Given the description of an element on the screen output the (x, y) to click on. 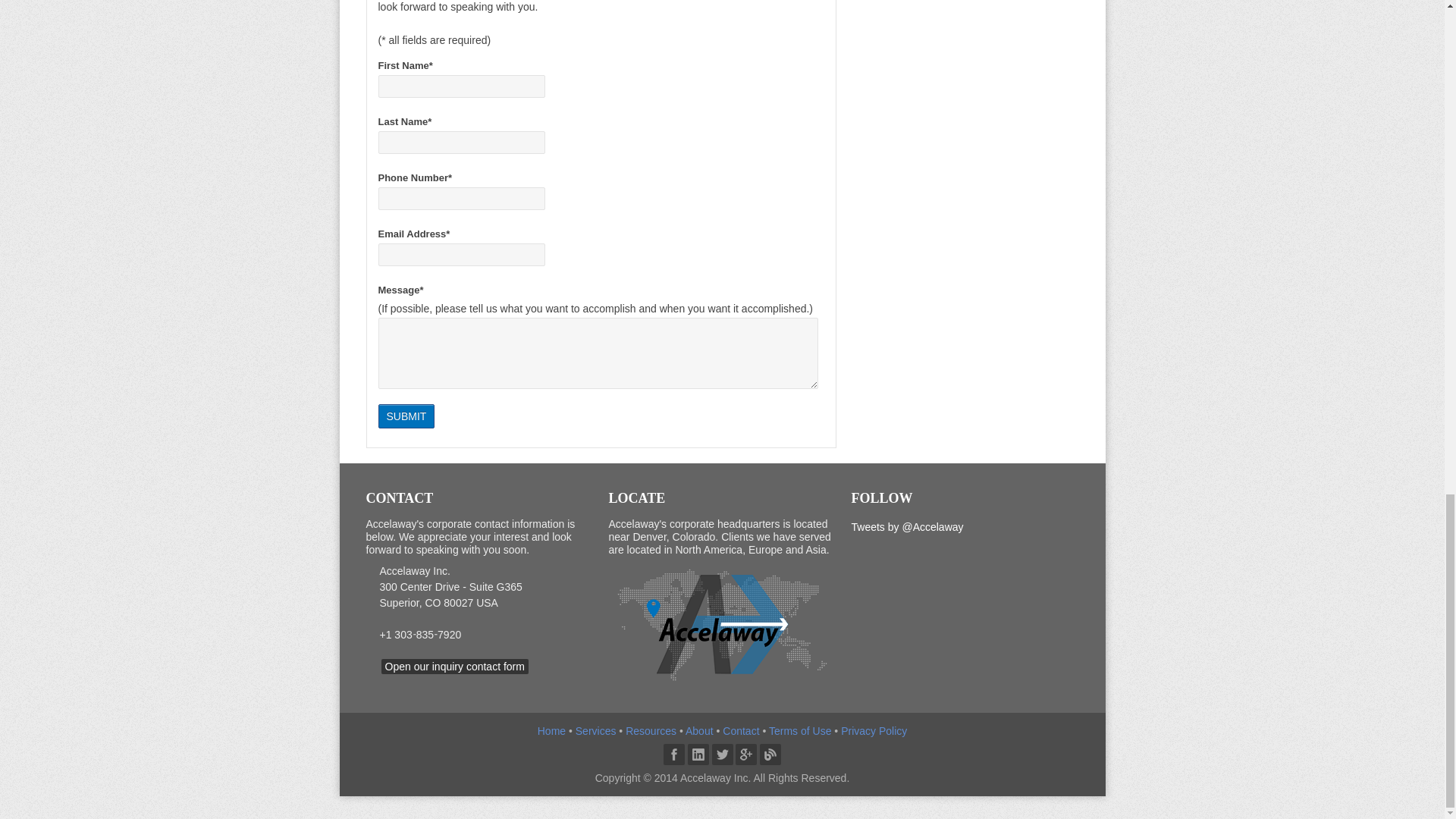
SUBMIT (405, 416)
Accelaway Blog (770, 753)
Accelaway on LinkedIn (698, 753)
Accelaway on Facebook (673, 753)
Accelaway on Twitter (721, 753)
